Given the description of an element on the screen output the (x, y) to click on. 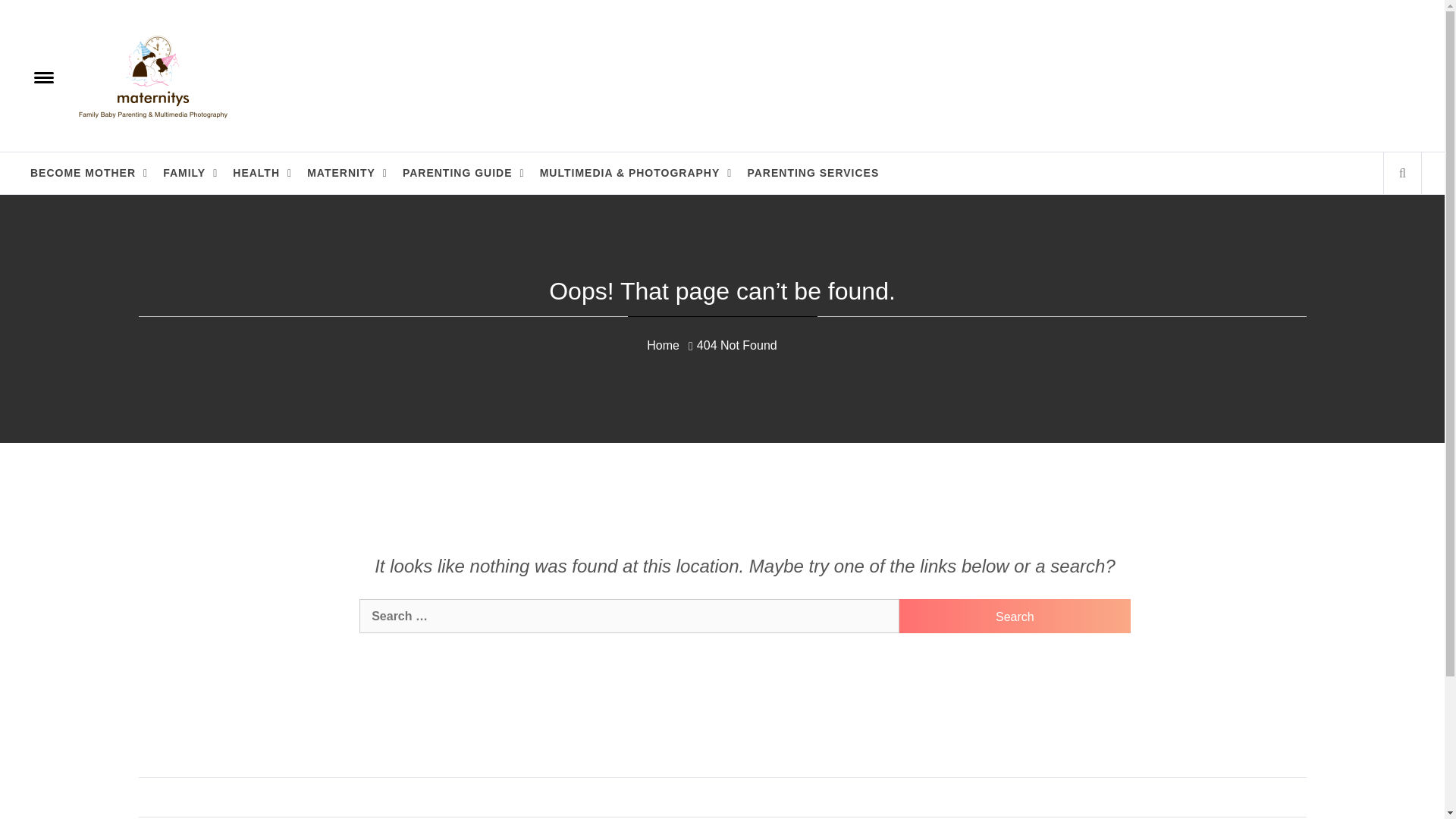
HEALTH (262, 173)
BECOME MOTHER (89, 173)
Search (1015, 615)
Search (1015, 615)
FAMILY (190, 173)
MATERNITY (346, 173)
PARENTING GUIDE (463, 173)
